Given the description of an element on the screen output the (x, y) to click on. 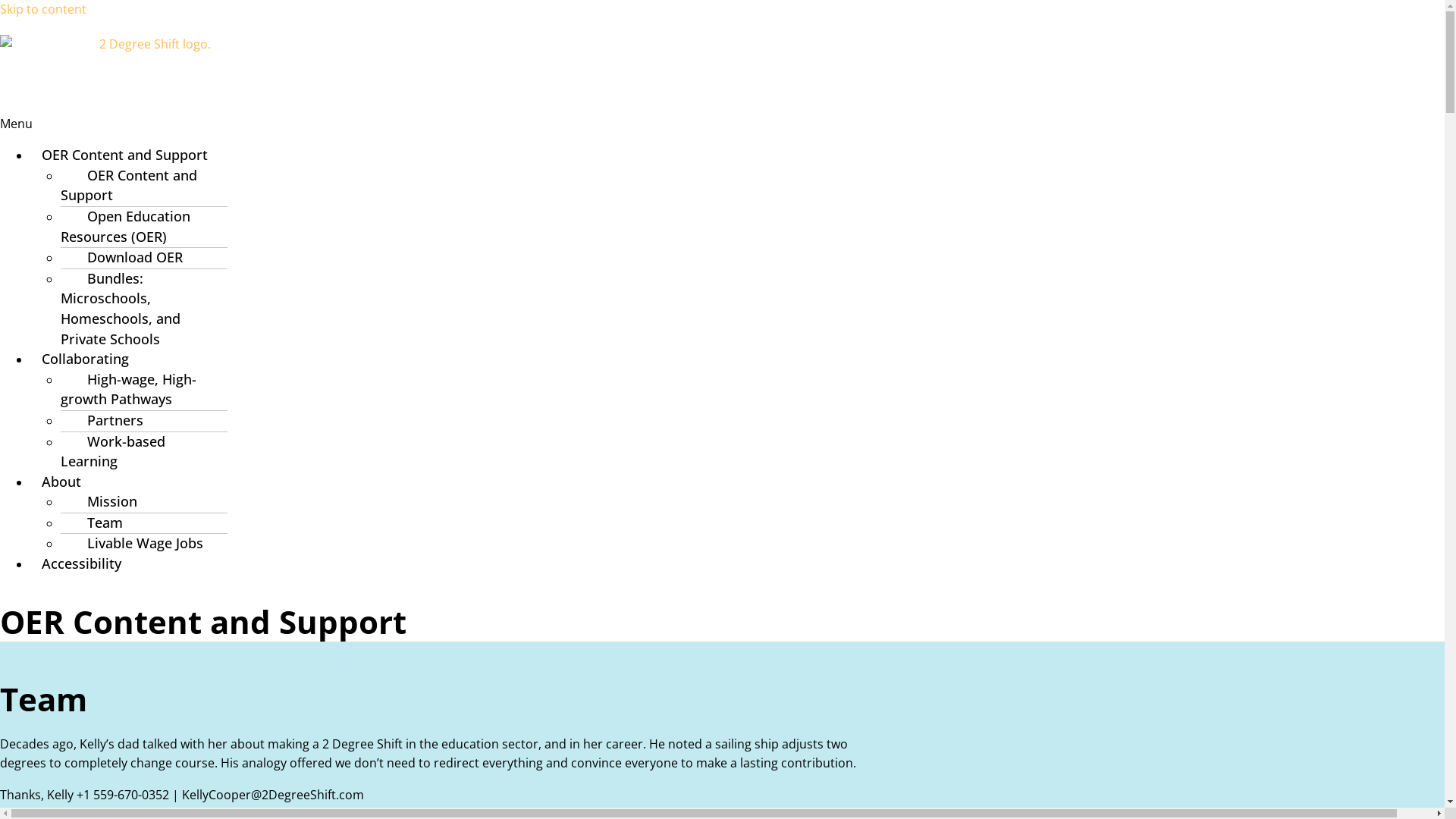
Work-based Learning Element type: text (112, 450)
OER Content and Support Element type: text (124, 154)
Partners Element type: text (107, 419)
Download OER Element type: text (127, 256)
Collaborating Element type: text (85, 358)
Team Element type: text (97, 522)
Open Education Resources (OER) Element type: text (125, 226)
High-wage, High-growth Pathways Element type: text (128, 389)
Mission Element type: text (104, 500)
Accessibility Element type: text (81, 562)
Bundles: Microschools, Homeschools, and Private Schools Element type: text (120, 308)
About Element type: text (61, 481)
OER Content and Support Element type: text (128, 185)
Livable Wage Jobs Element type: text (137, 542)
Skip to content Element type: text (43, 8)
